Given the description of an element on the screen output the (x, y) to click on. 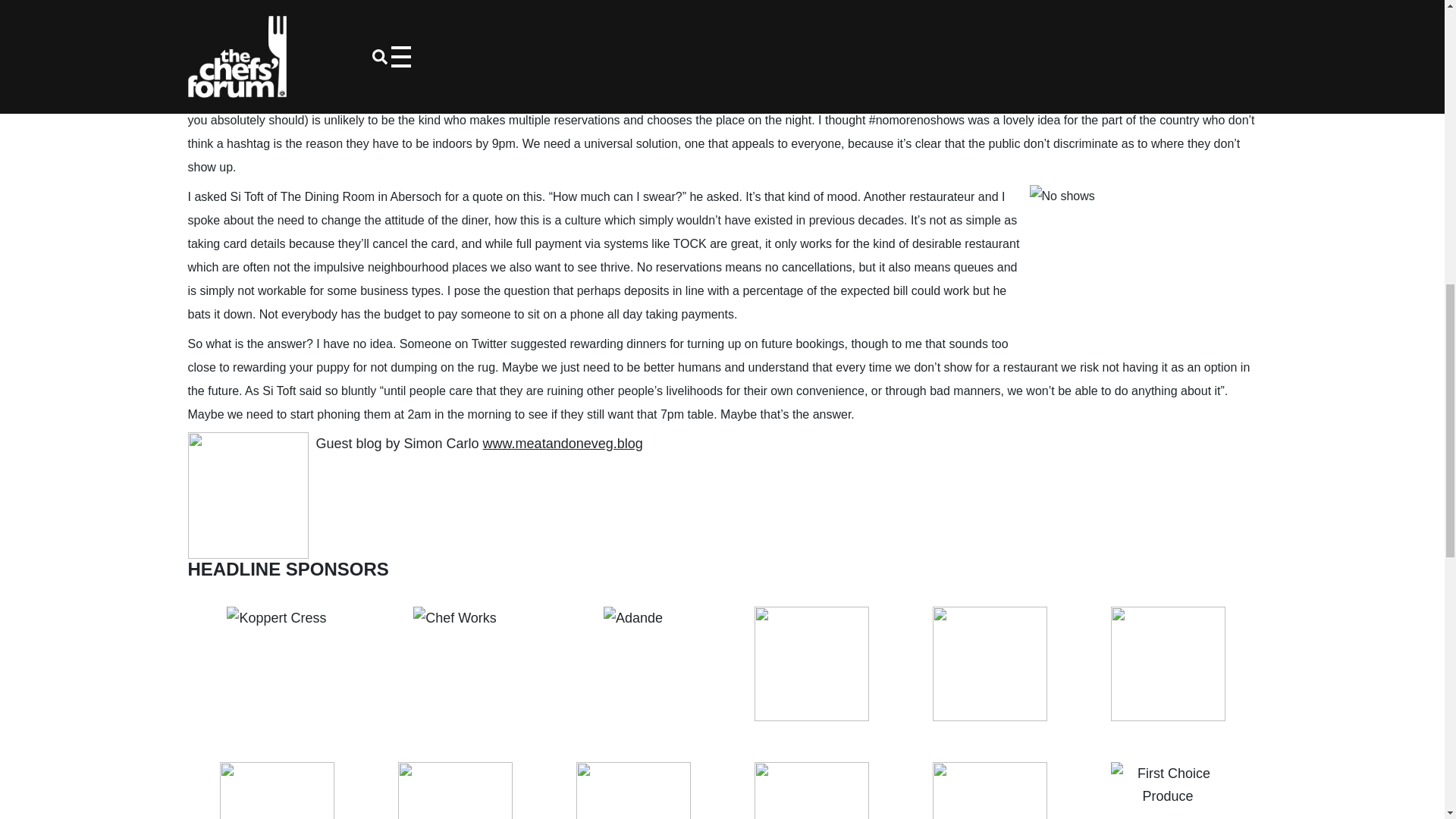
www.meatandoneveg.blog (563, 443)
